Given the description of an element on the screen output the (x, y) to click on. 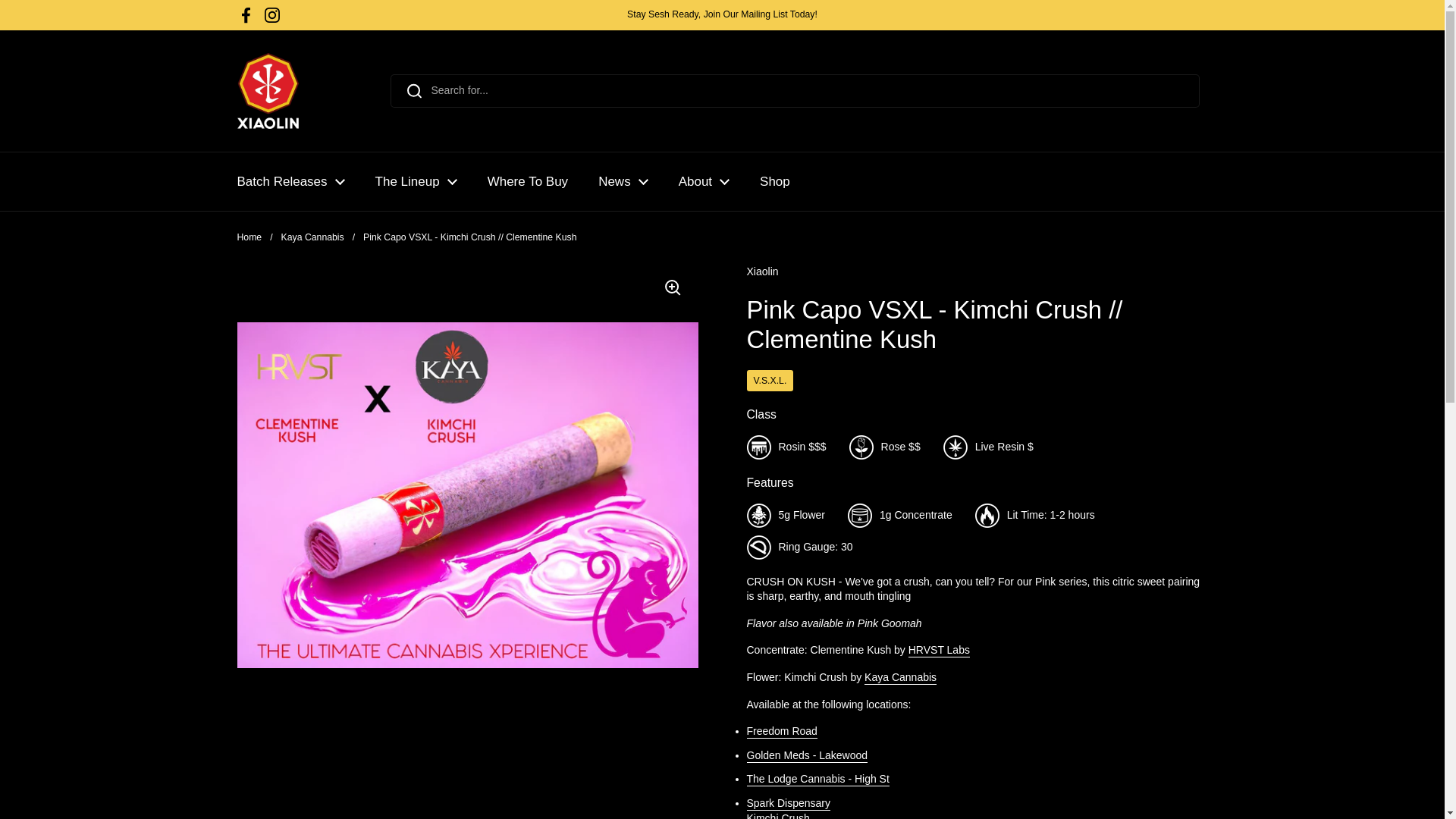
Where To Buy (527, 181)
Stay Sesh Ready, Join Our Mailing List Today! (721, 14)
Batch Releases (290, 181)
Instagram (271, 14)
Facebook (244, 14)
About (703, 181)
News (623, 181)
The Lineup (415, 181)
